Given the description of an element on the screen output the (x, y) to click on. 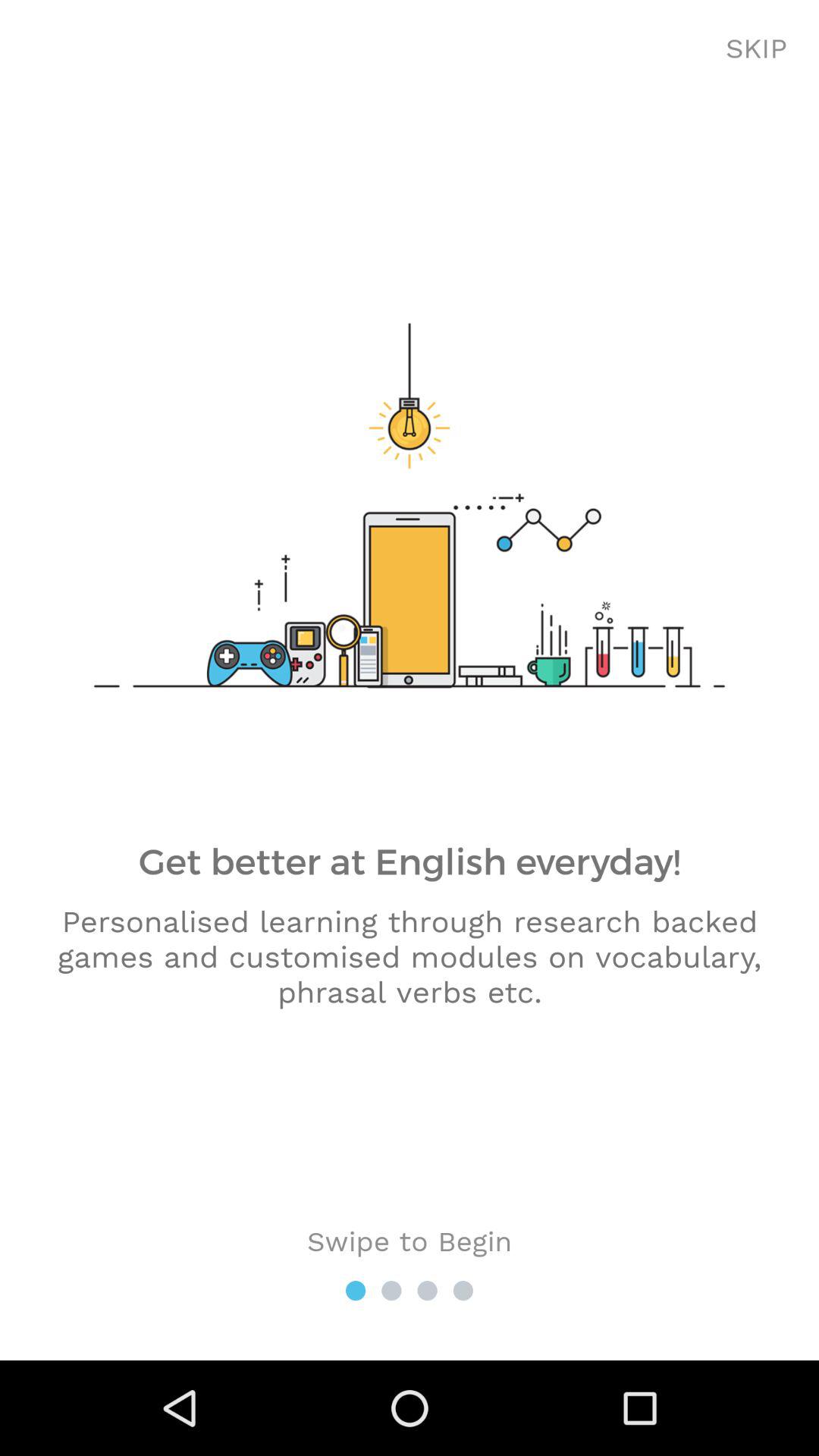
tap item at the top right corner (756, 49)
